Given the description of an element on the screen output the (x, y) to click on. 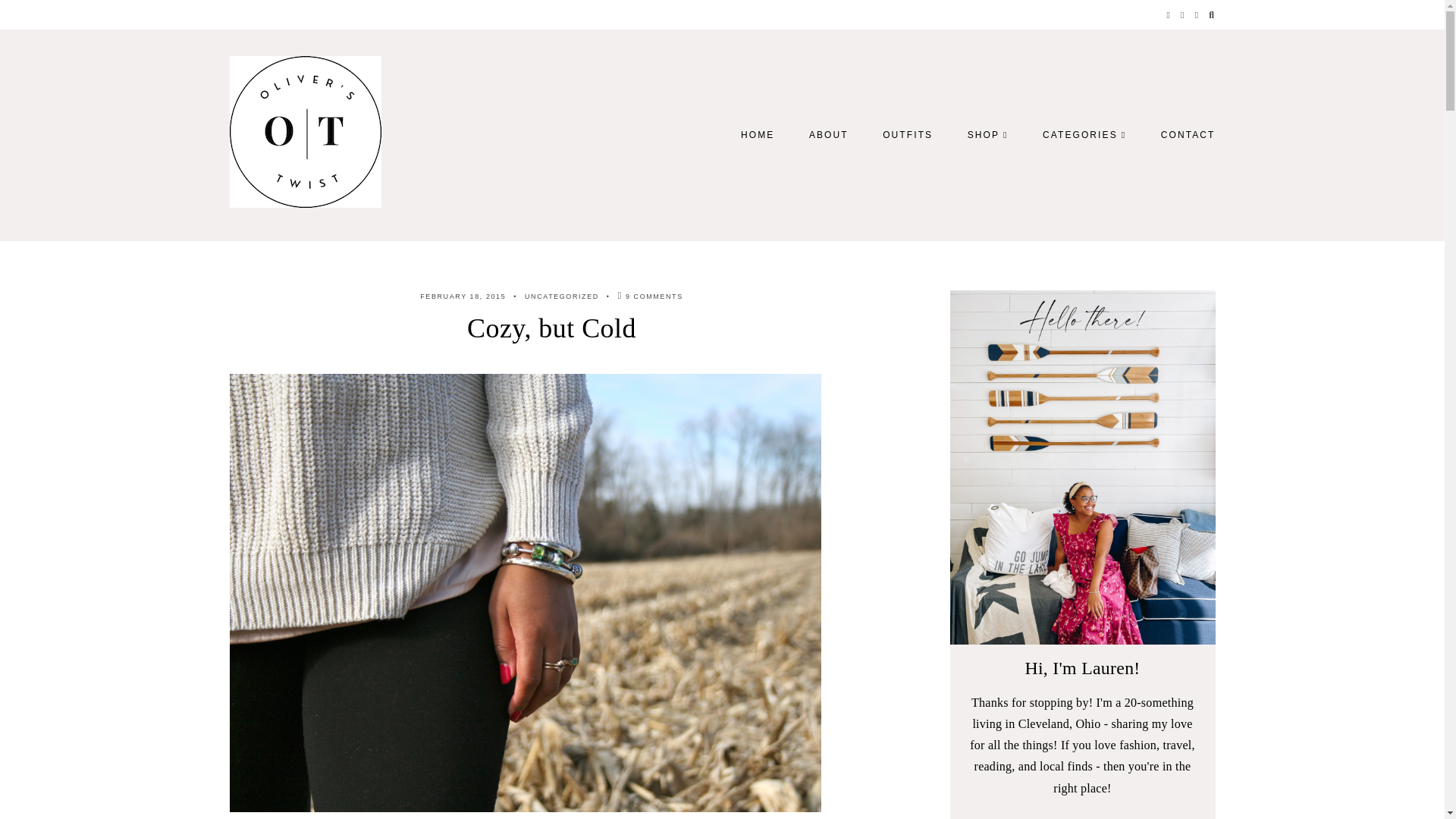
View all posts in Uncategorized (561, 296)
